Given the description of an element on the screen output the (x, y) to click on. 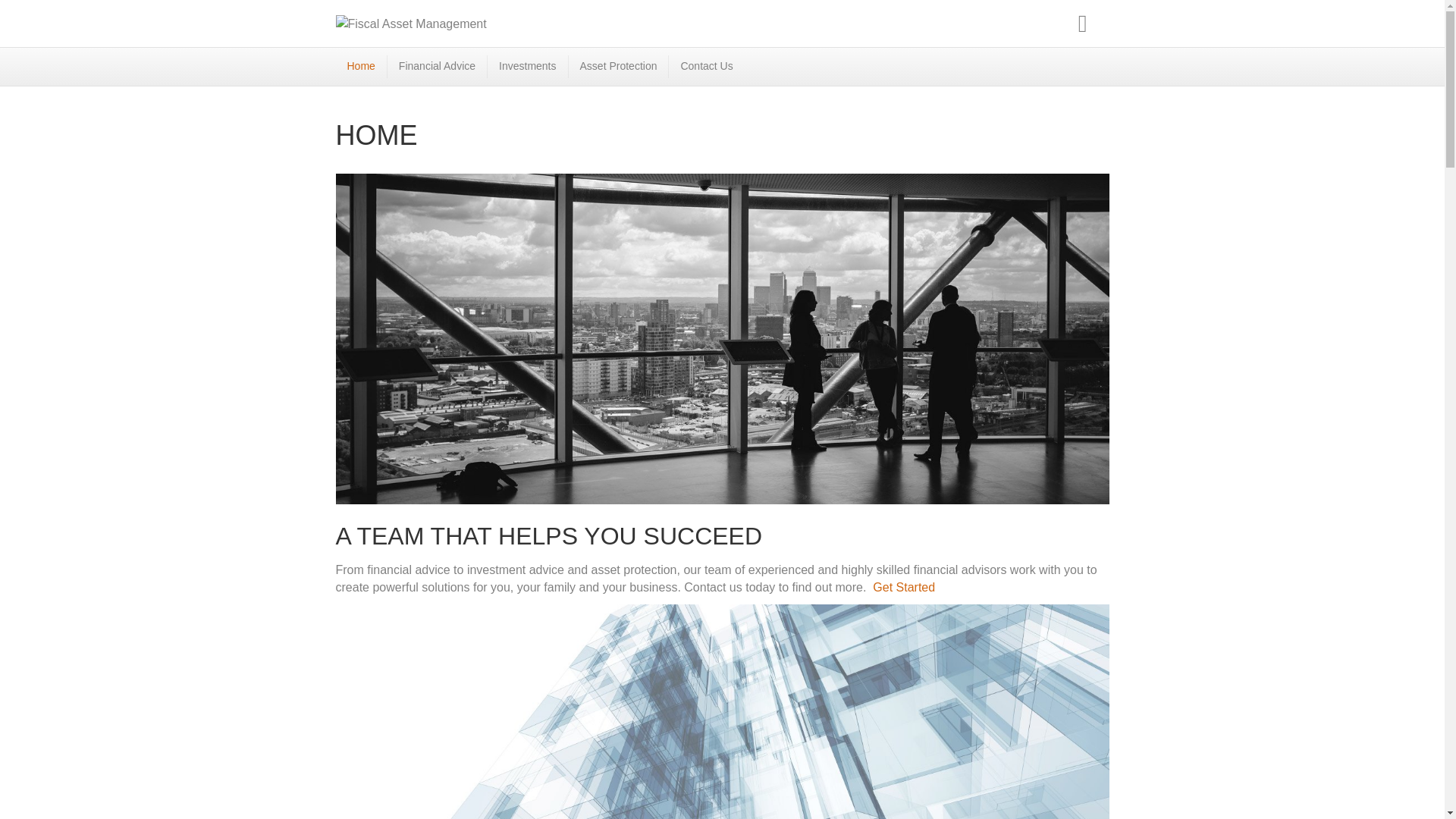
Contact Us (706, 66)
Get Started (901, 586)
Investments (527, 66)
Email (1082, 23)
Asset Protection (619, 66)
Financial Advice (437, 66)
Home (360, 66)
